Given the description of an element on the screen output the (x, y) to click on. 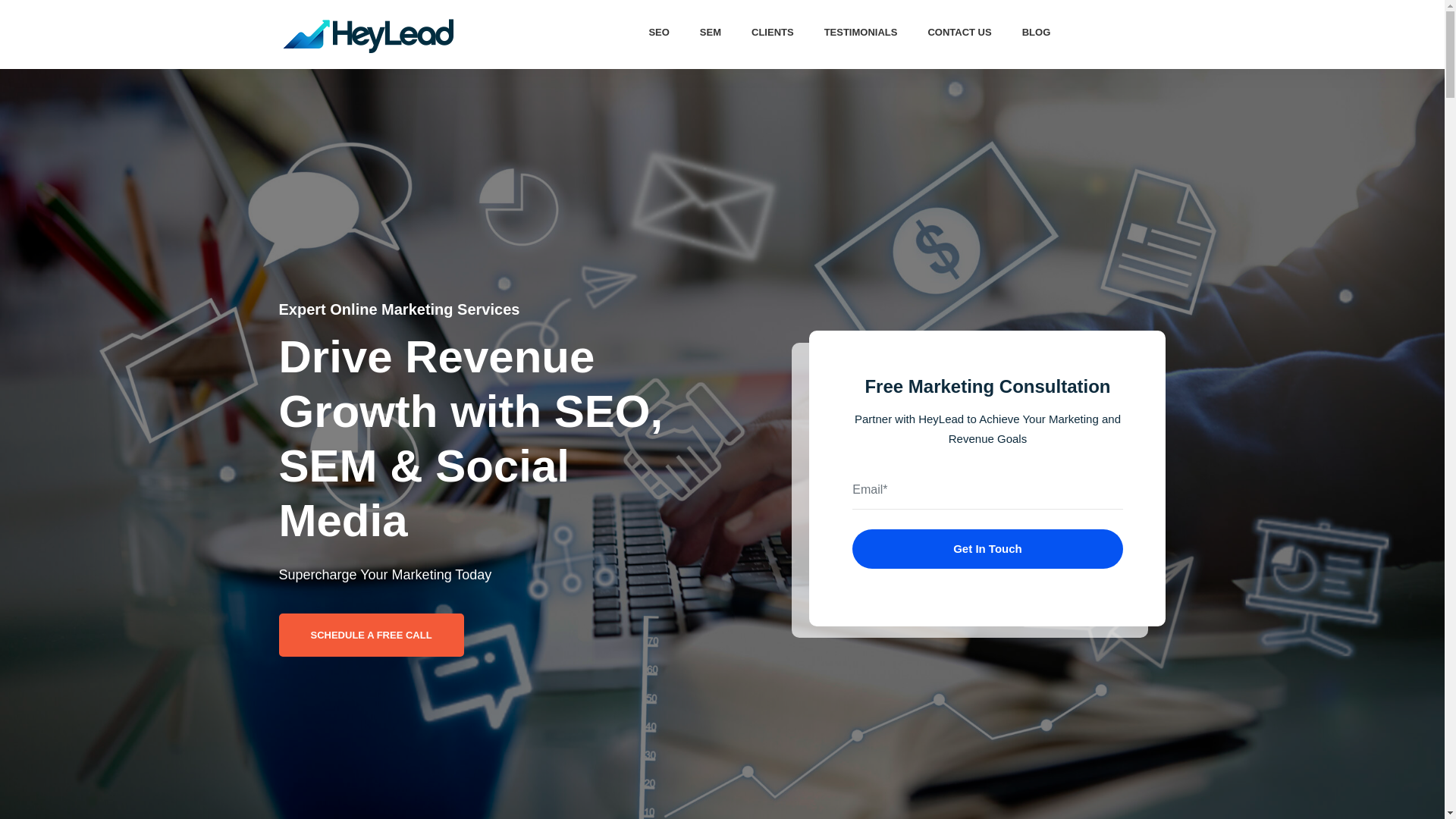
SEM (710, 32)
SEO (658, 32)
Get In Touch (986, 548)
SCHEDULE A FREE CALL (371, 634)
CONTACT US (959, 32)
TESTIMONIALS (860, 32)
CLIENTS (772, 32)
BLOG (1036, 32)
